Given the description of an element on the screen output the (x, y) to click on. 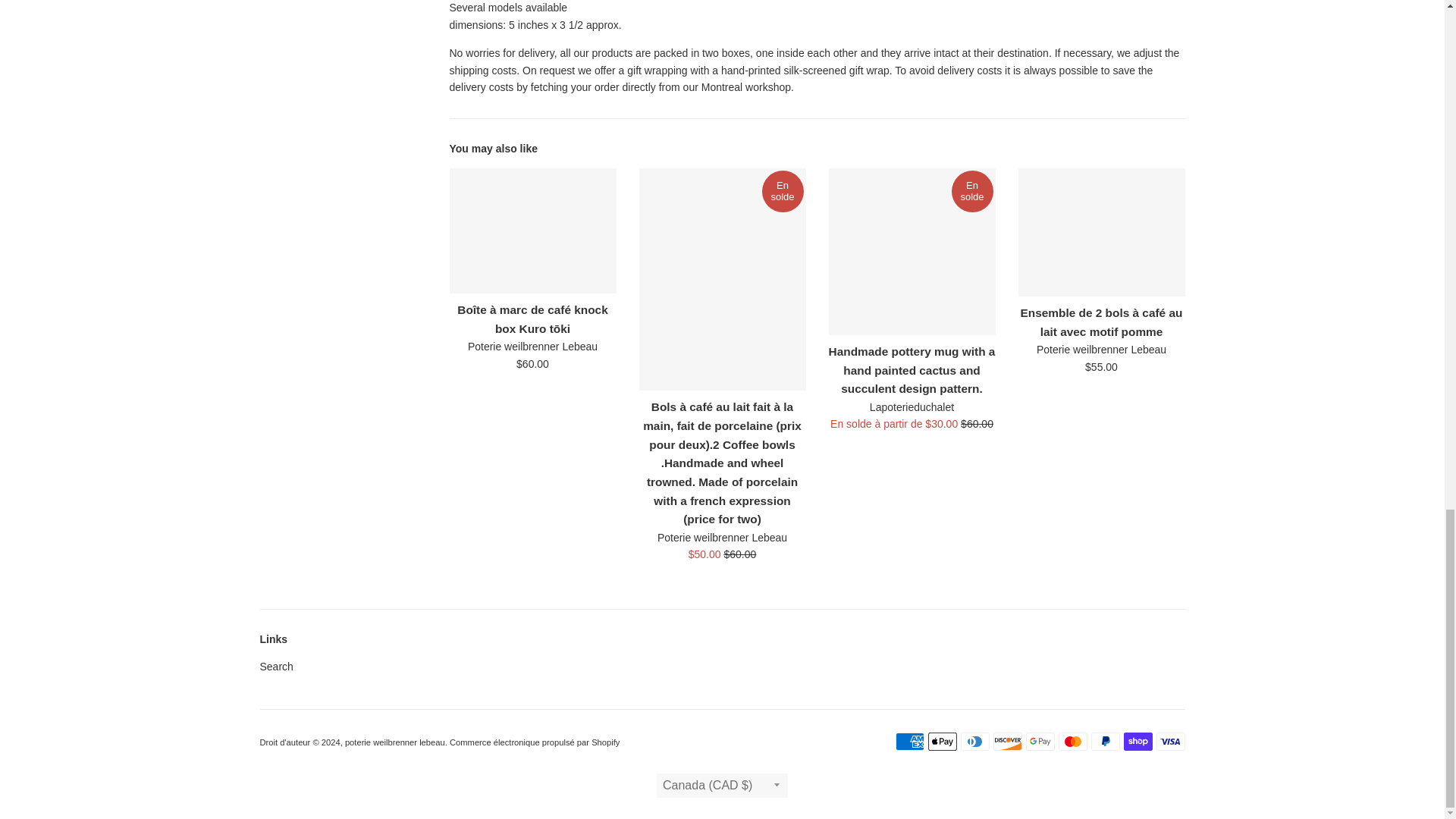
Discover (1007, 741)
American Express (909, 741)
Mastercard (1072, 741)
Search (275, 666)
Shop Pay (1138, 741)
Diners Club (973, 741)
Apple Pay (942, 741)
Visa (1170, 741)
PayPal (1104, 741)
Google Pay (1039, 741)
